Given the description of an element on the screen output the (x, y) to click on. 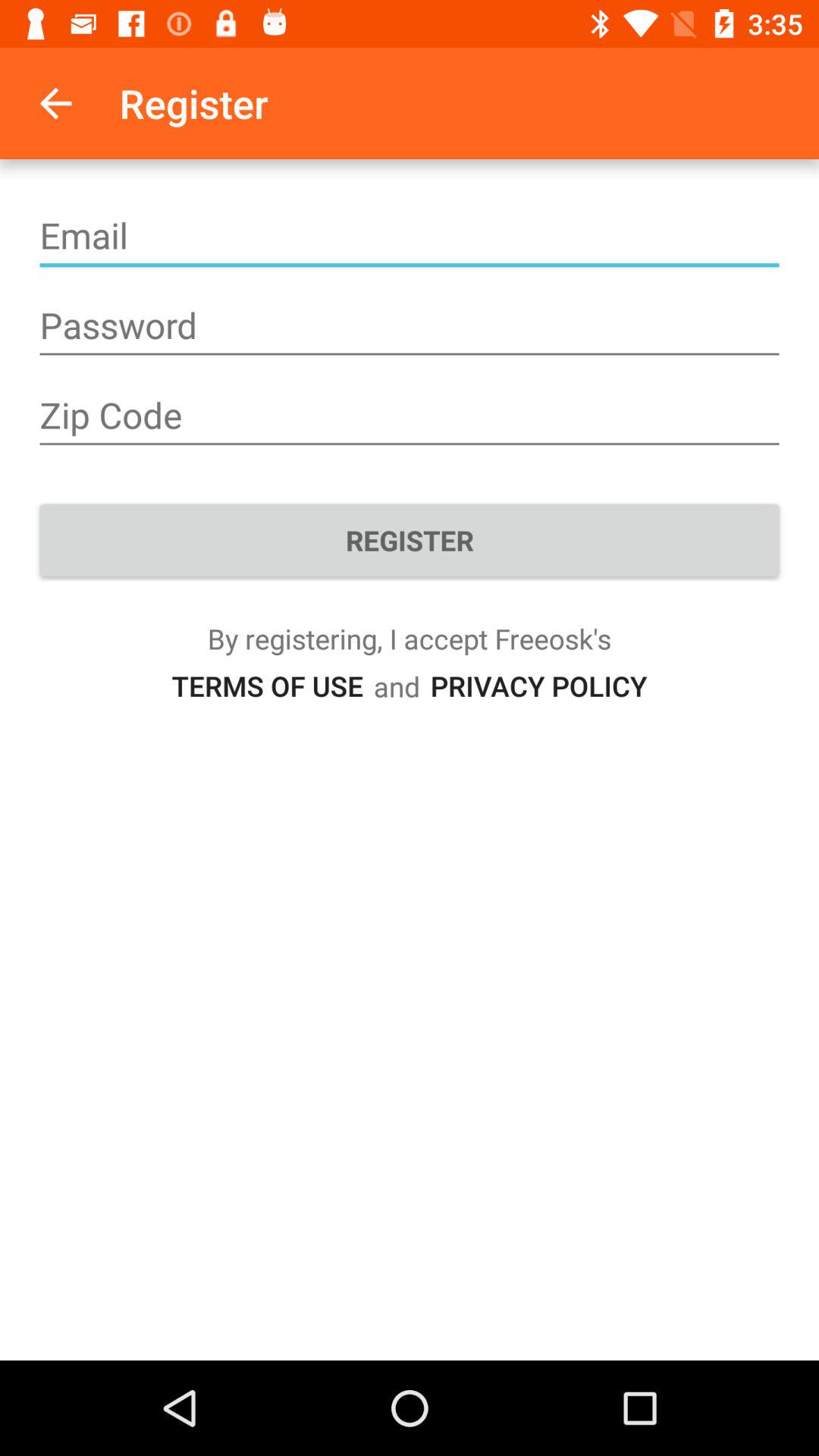
choose the icon next to the register (55, 103)
